Given the description of an element on the screen output the (x, y) to click on. 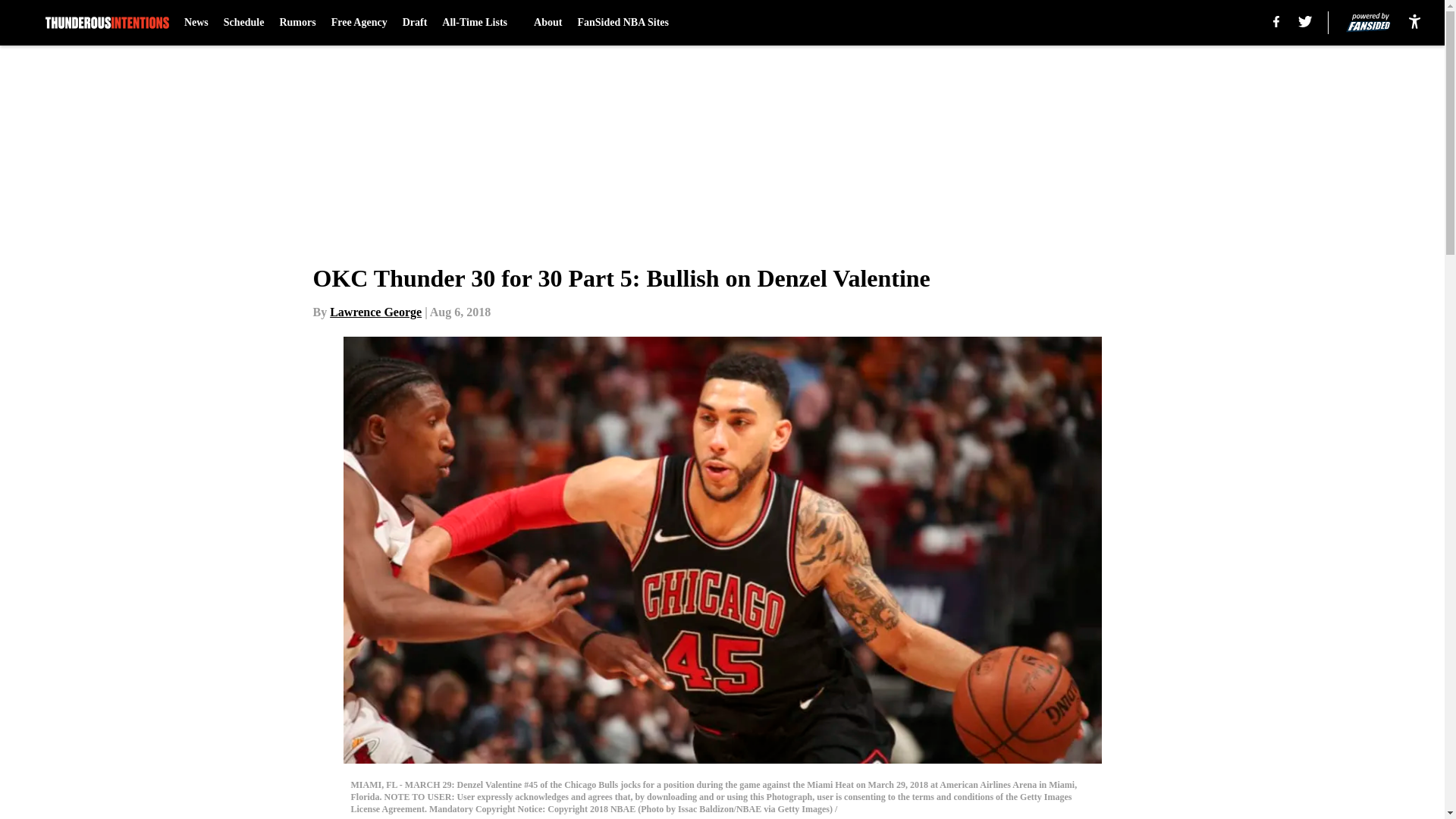
Draft (415, 22)
About (548, 22)
Lawrence George (376, 311)
Schedule (244, 22)
All-Time Lists (480, 22)
FanSided NBA Sites (622, 22)
News (196, 22)
Free Agency (359, 22)
Rumors (297, 22)
